Given the description of an element on the screen output the (x, y) to click on. 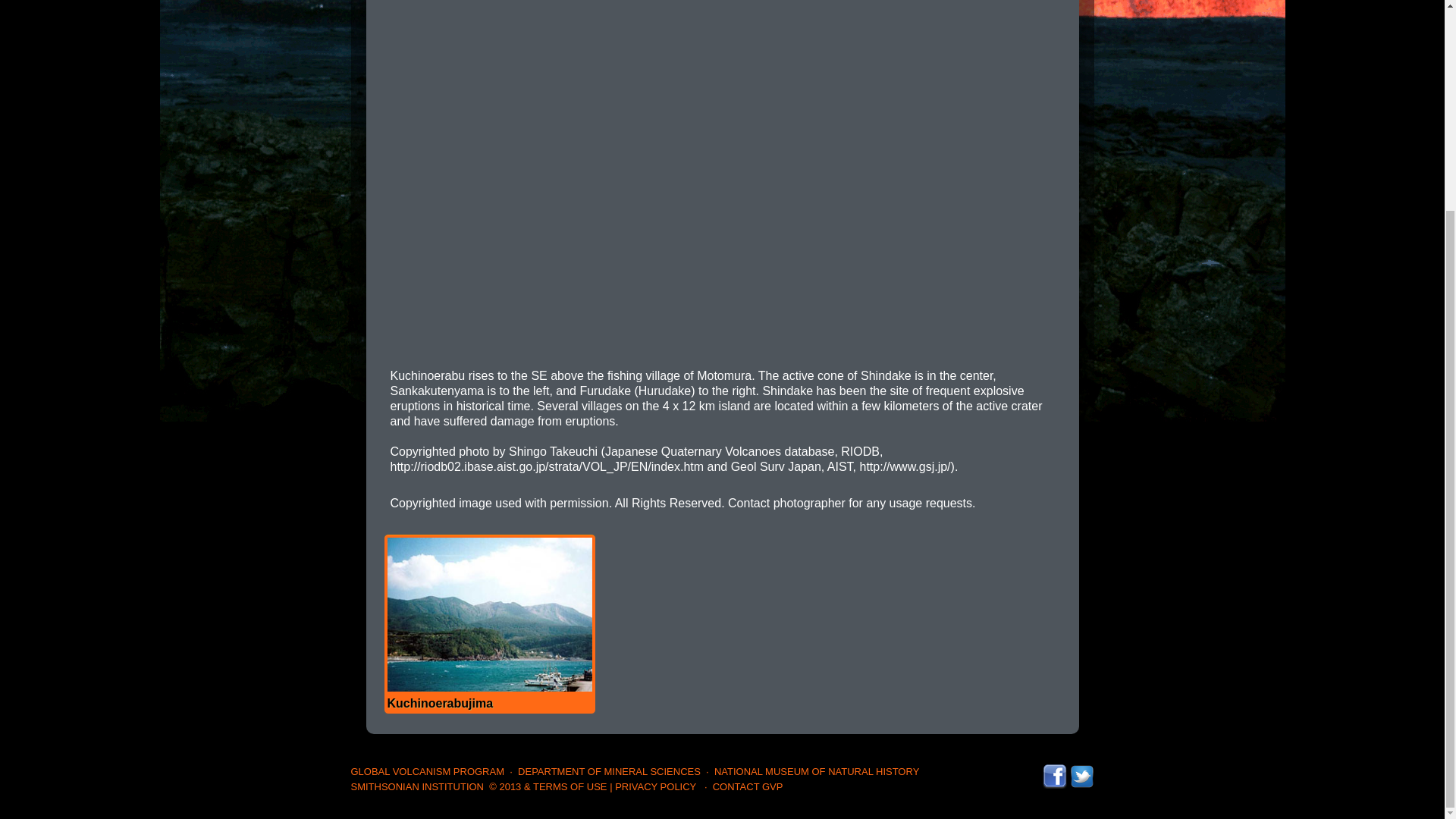
GLOBAL VOLCANISM PROGRAM (426, 771)
Twitter (1080, 771)
Facebook (1054, 771)
DEPARTMENT OF MINERAL SCIENCES (609, 771)
Link to Copyright Notice and Terms of Use (548, 786)
Link to Privacy Notice (654, 786)
Kuchinoerabujima (489, 624)
Send email to GVP (748, 786)
